Given the description of an element on the screen output the (x, y) to click on. 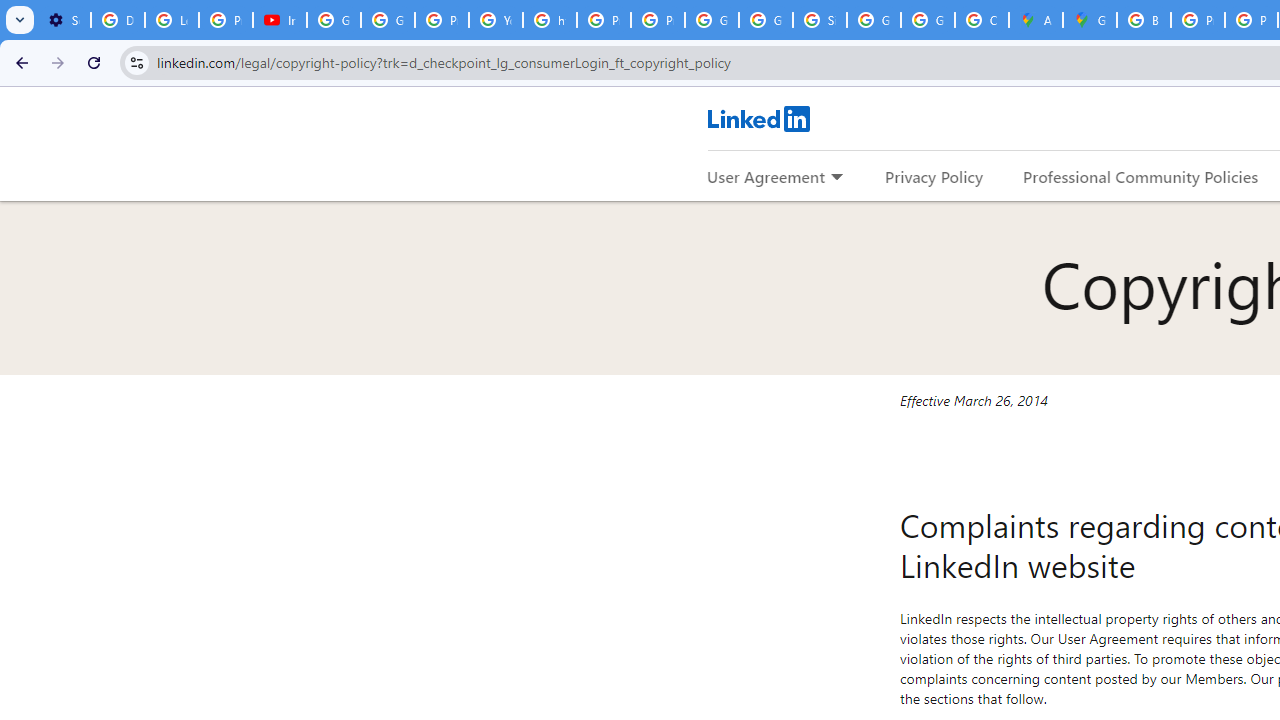
Learn how to find your photos - Google Photos Help (171, 20)
User Agreement (765, 176)
LinkedIn Logo (758, 118)
Blogger Policies and Guidelines - Transparency Center (1144, 20)
Settings - Customize profile (63, 20)
Sign in - Google Accounts (819, 20)
Delete photos & videos - Computer - Google Photos Help (117, 20)
